Given the description of an element on the screen output the (x, y) to click on. 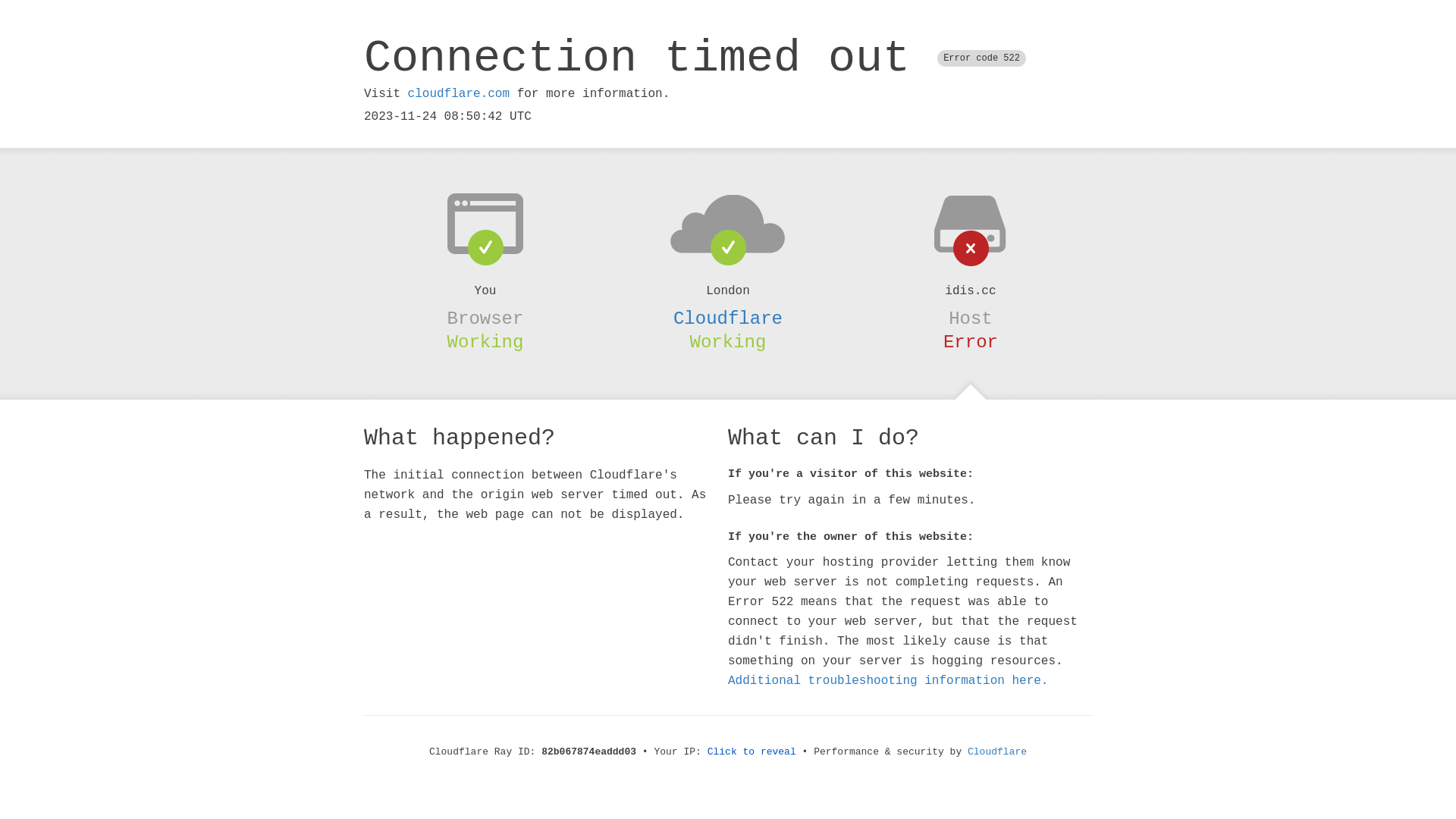
Additional troubleshooting information here. Element type: text (888, 680)
Cloudflare Element type: text (727, 318)
Cloudflare Element type: text (996, 751)
Click to reveal Element type: text (751, 751)
cloudflare.com Element type: text (458, 93)
